Given the description of an element on the screen output the (x, y) to click on. 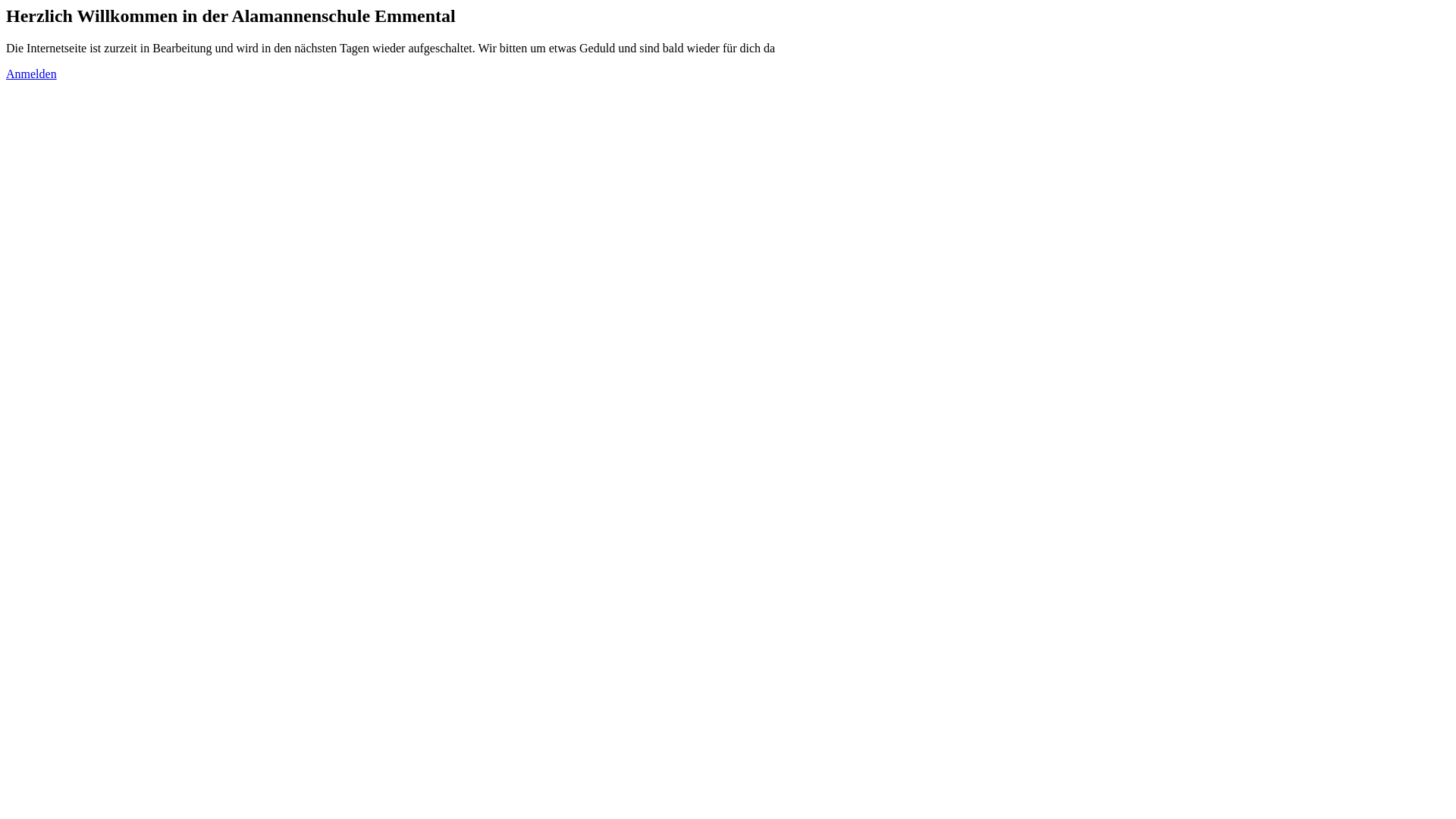
Anmelden Element type: text (31, 73)
